Given the description of an element on the screen output the (x, y) to click on. 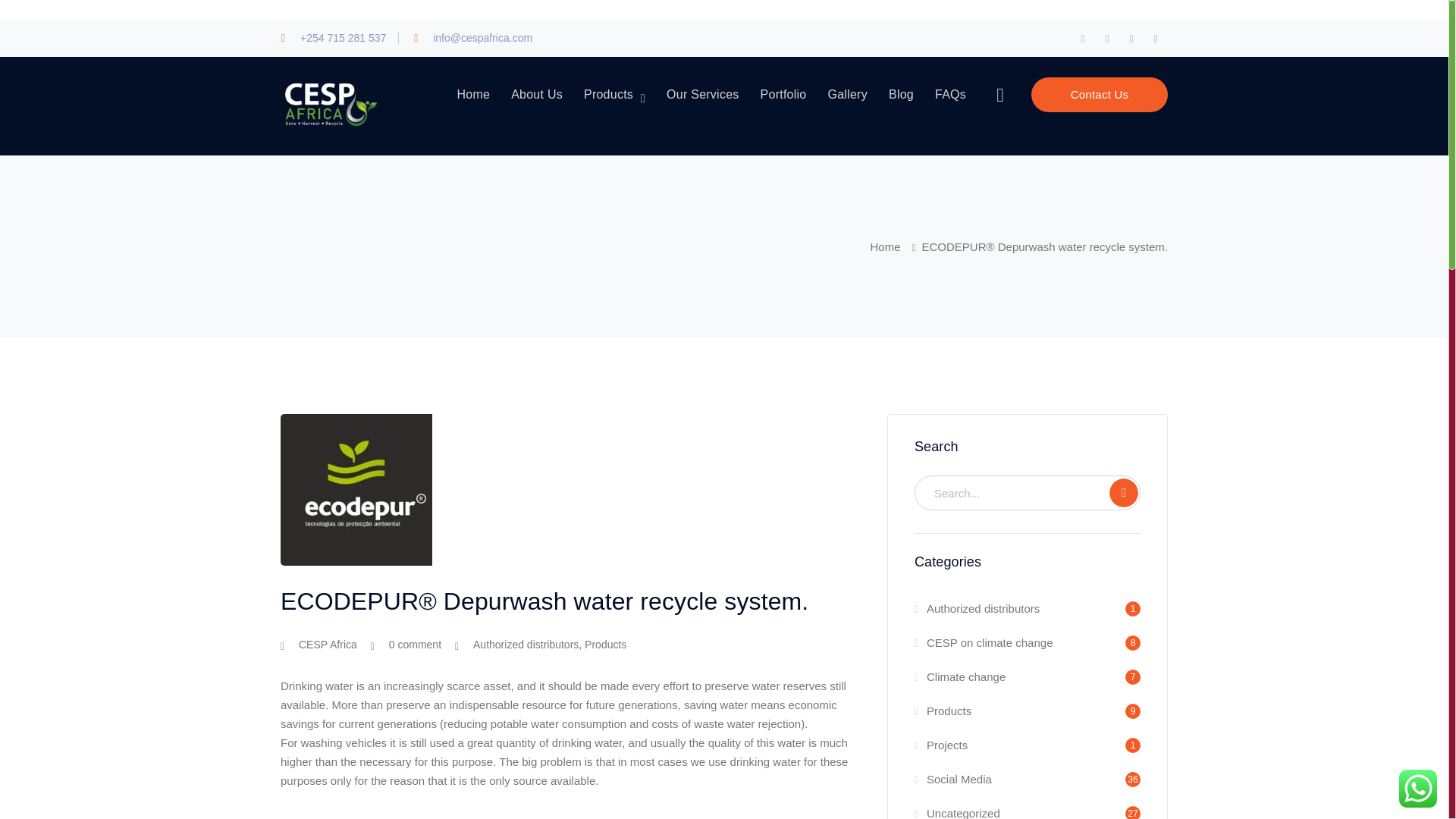
Search for: (1027, 492)
Twitter Profile (1106, 38)
Products (605, 644)
Projects (941, 745)
Climate change (960, 676)
Instagram (1154, 38)
CESP Africa (327, 644)
LinkedIn (1130, 38)
Home (895, 246)
CESP on climate change (983, 642)
